Given the description of an element on the screen output the (x, y) to click on. 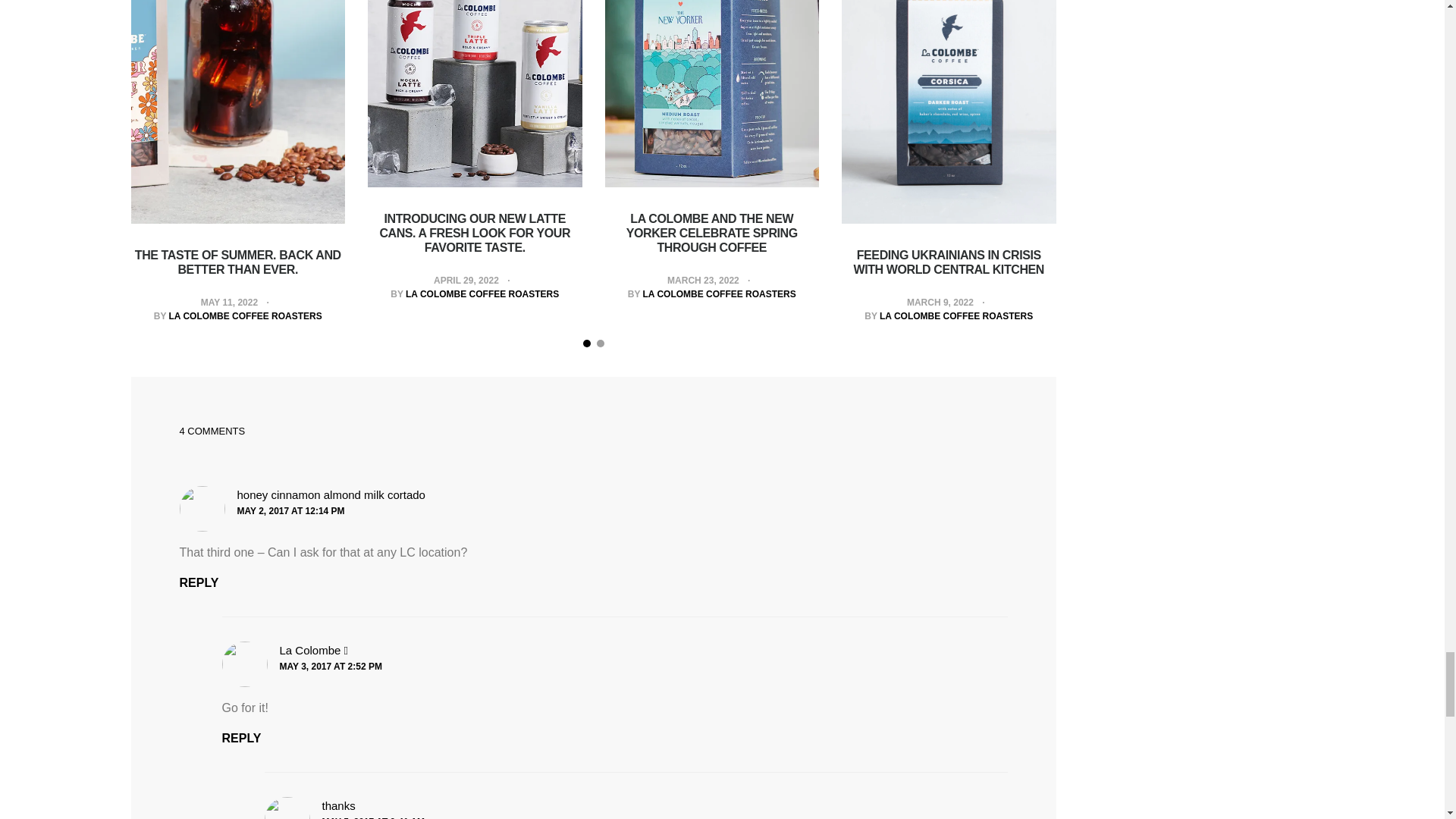
Posts by La Colombe Coffee Roasters (482, 294)
LA COLOMBE COFFEE ROASTERS (244, 316)
LA COLOMBE COFFEE ROASTERS (482, 294)
Posts by La Colombe Coffee Roasters (244, 316)
THE TASTE OF SUMMER. BACK AND BETTER THAN EVER. (237, 262)
Posts by La Colombe Coffee Roasters (955, 316)
Posts by La Colombe Coffee Roasters (719, 294)
